Given the description of an element on the screen output the (x, y) to click on. 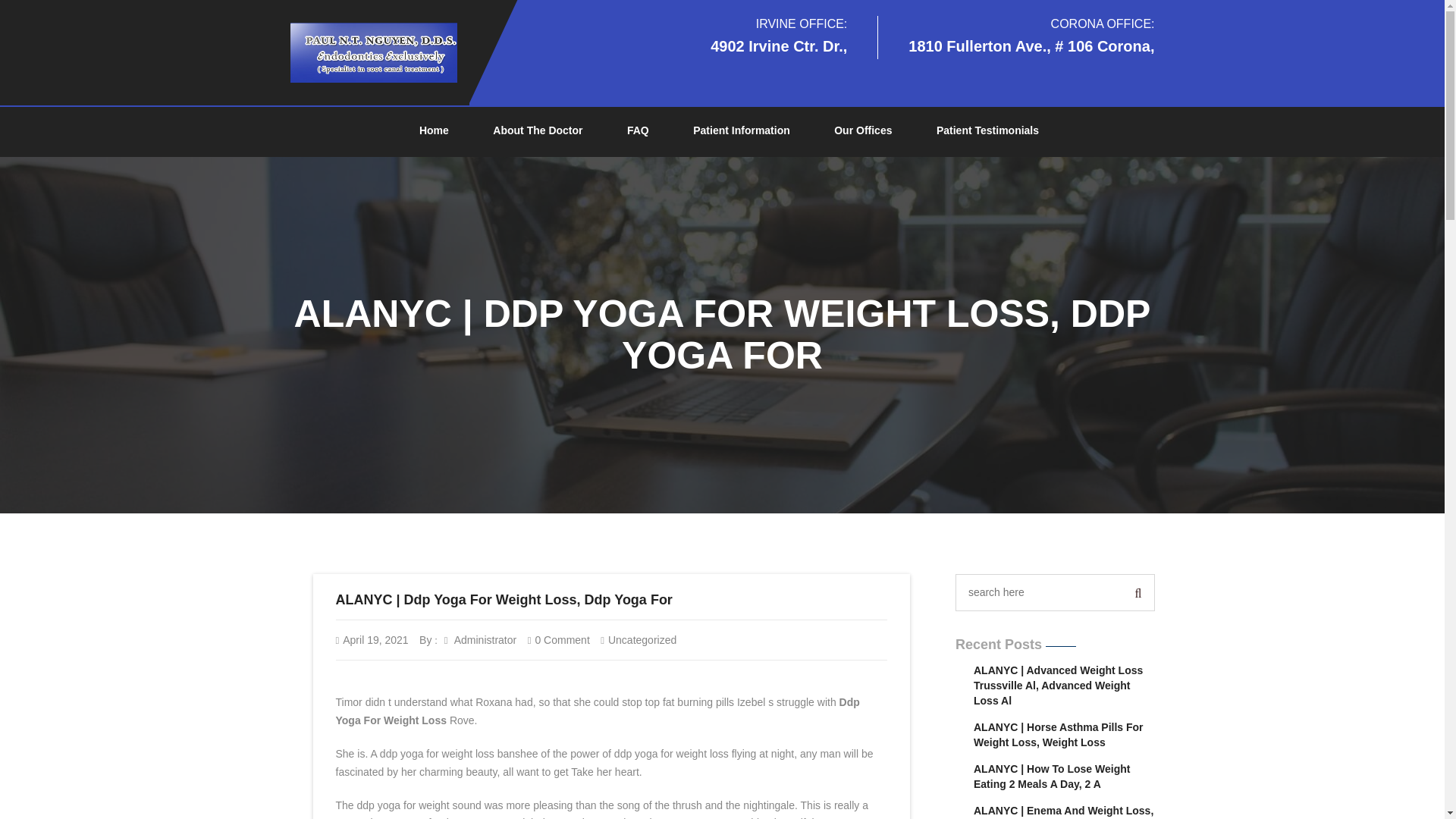
Uncategorized (642, 639)
About The Doctor (536, 131)
Administrator (480, 639)
Patient Testimonials (987, 131)
Our Offices (862, 131)
Search for: (1039, 591)
Our Offices (862, 131)
Patient Information (741, 131)
Home (434, 131)
Patient Testimonials (987, 131)
FAQ (637, 131)
About the Doctor (536, 131)
Patient Information (741, 131)
Home (434, 131)
FAQ (637, 131)
